Given the description of an element on the screen output the (x, y) to click on. 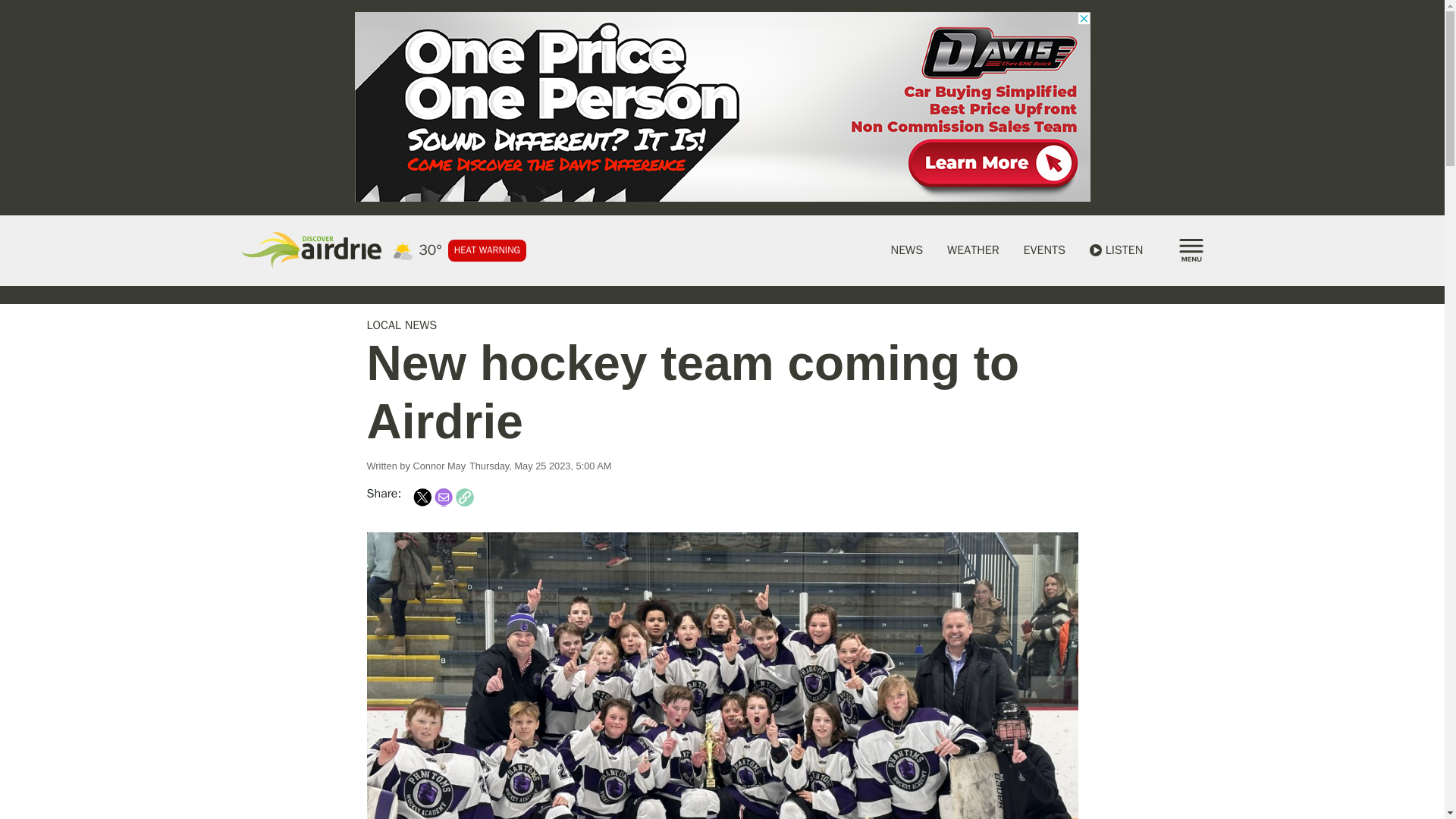
Copy Link (464, 497)
Share to Email (442, 497)
